Given the description of an element on the screen output the (x, y) to click on. 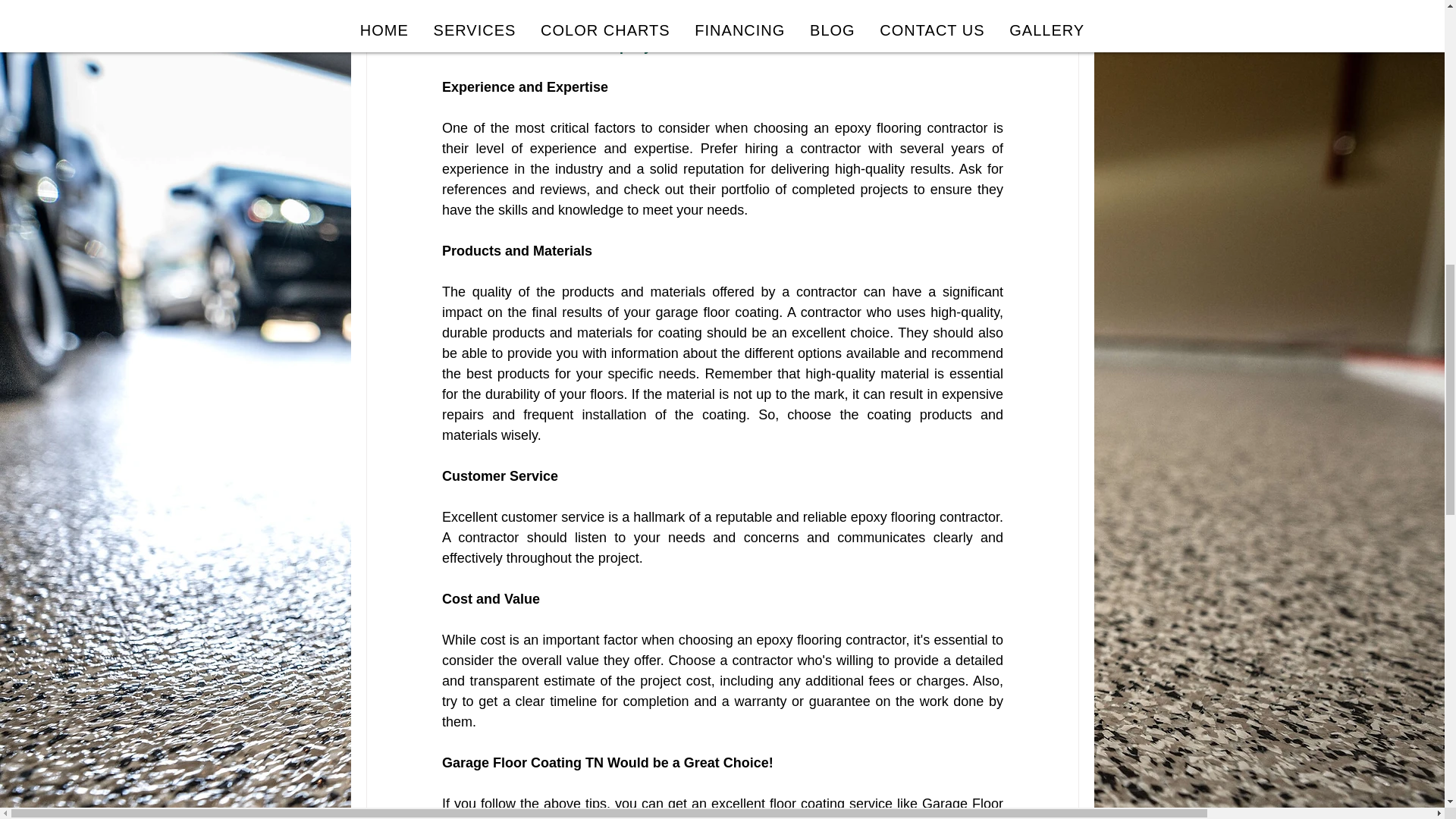
epoxy floors in Nashville (692, 46)
